Given the description of an element on the screen output the (x, y) to click on. 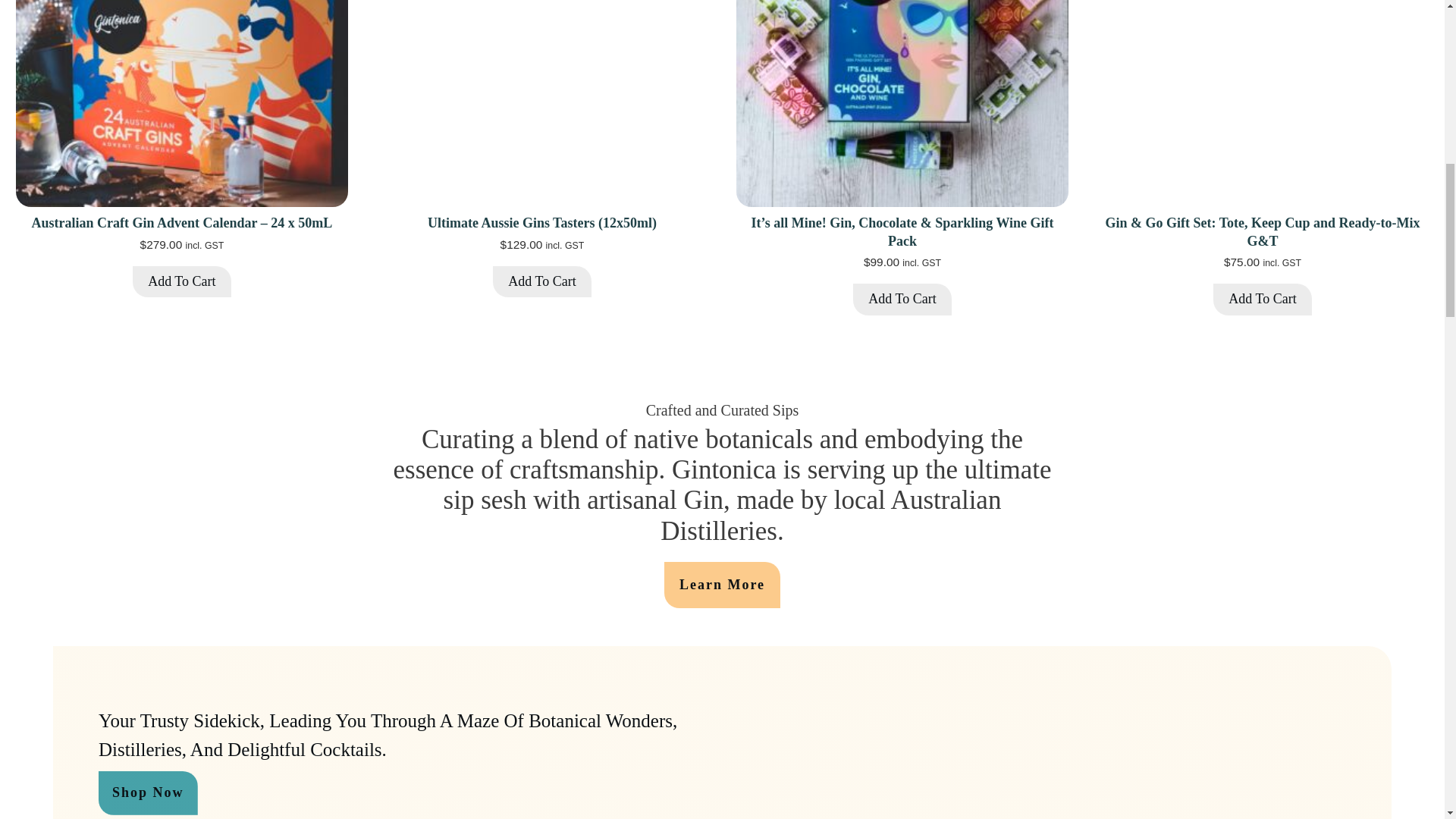
Add To Cart (1261, 299)
Shop Now (148, 792)
Add To Cart (901, 299)
Learn More (721, 585)
Add To Cart (542, 282)
Add To Cart (181, 282)
